Given the description of an element on the screen output the (x, y) to click on. 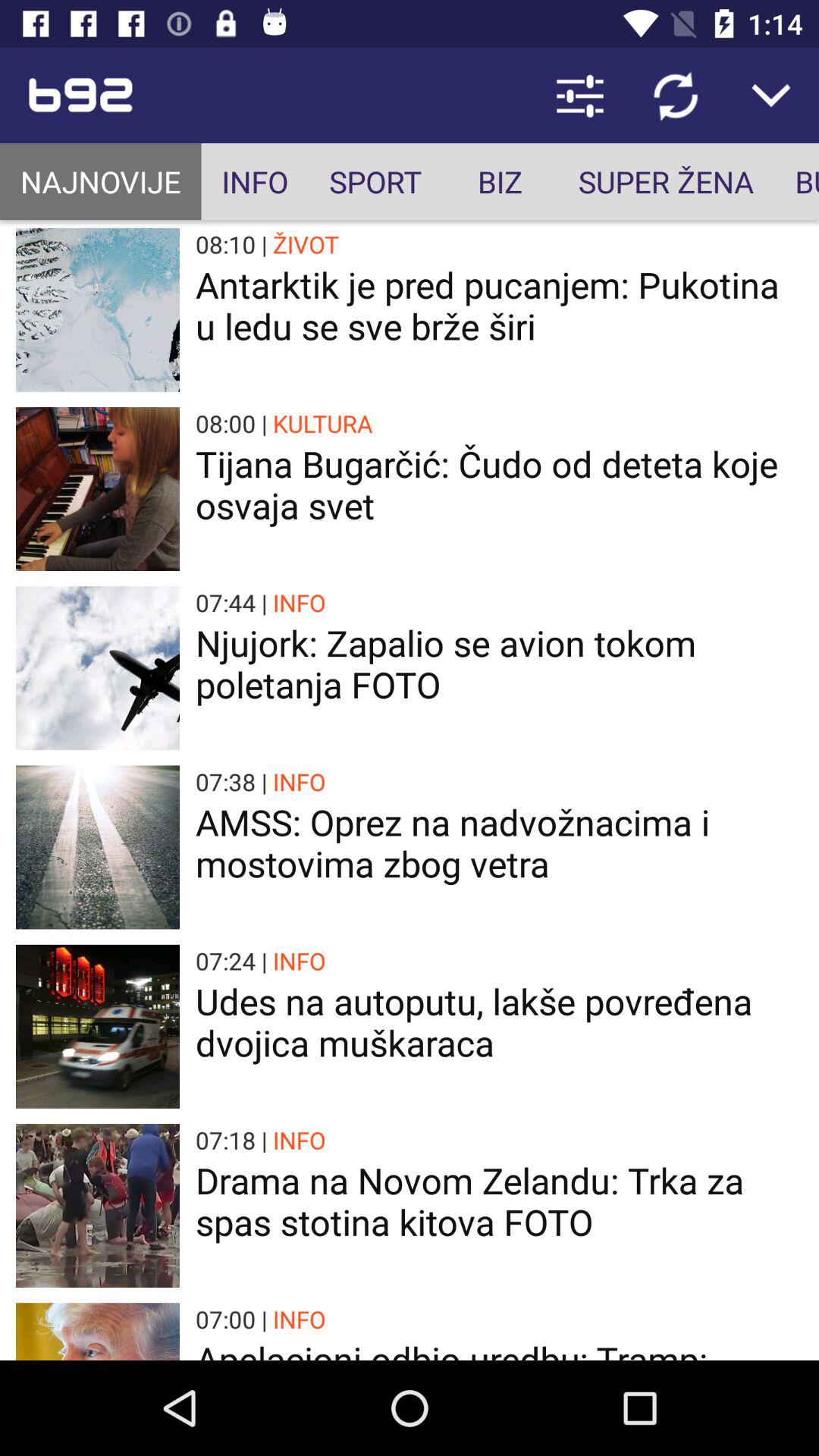
tap the   biz (499, 181)
